Given the description of an element on the screen output the (x, y) to click on. 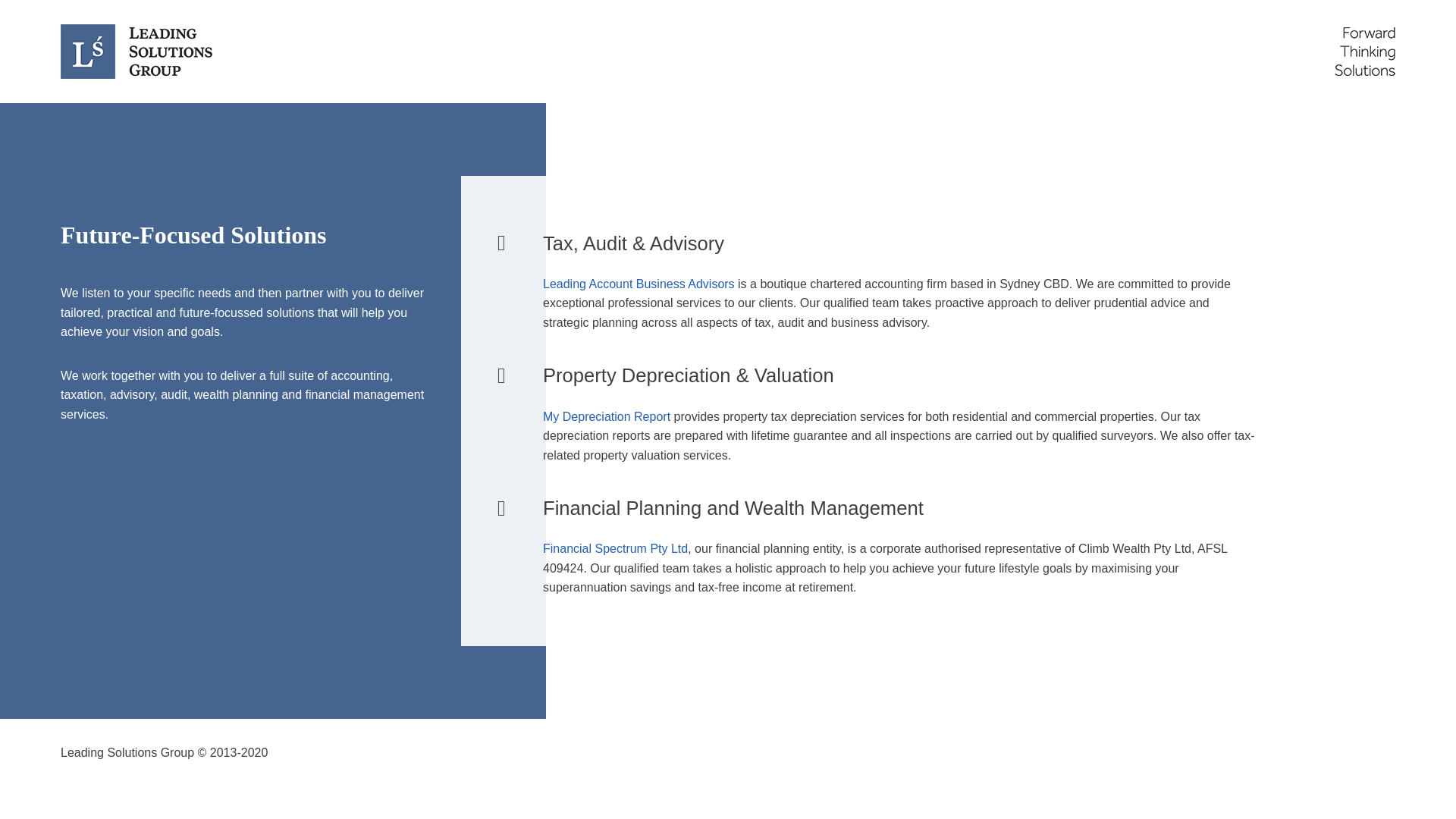
Leading Account Business Advisors Element type: text (638, 283)
Financial Spectrum Pty Ltd Element type: text (614, 548)
My Depreciation Report Element type: text (606, 416)
